Given the description of an element on the screen output the (x, y) to click on. 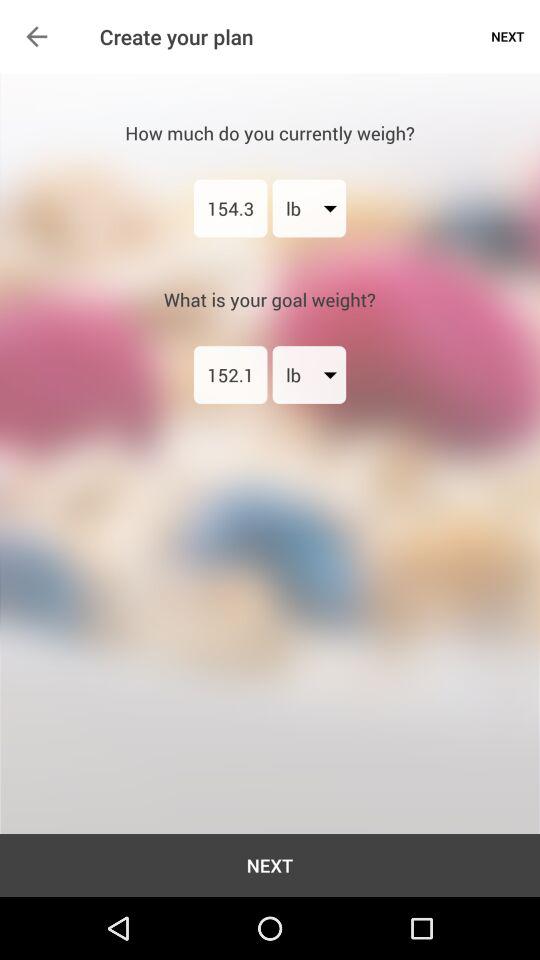
jump to the 154.3 icon (230, 208)
